Given the description of an element on the screen output the (x, y) to click on. 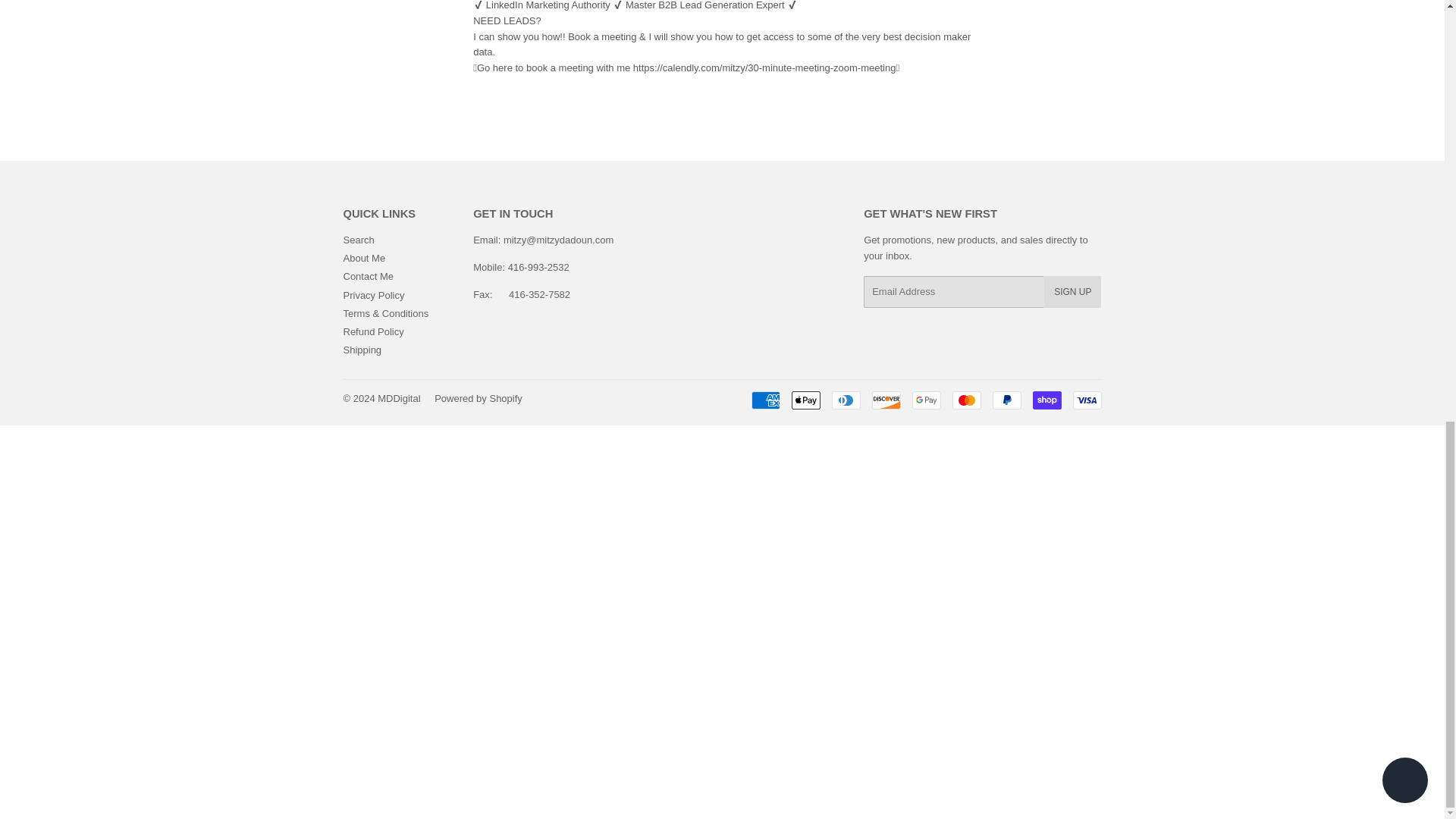
Discover (886, 400)
American Express (764, 400)
Mastercard (966, 400)
Google Pay (925, 400)
Apple Pay (806, 400)
PayPal (1005, 400)
Diners Club (845, 400)
Shop Pay (1046, 400)
Visa (1085, 400)
